Given the description of an element on the screen output the (x, y) to click on. 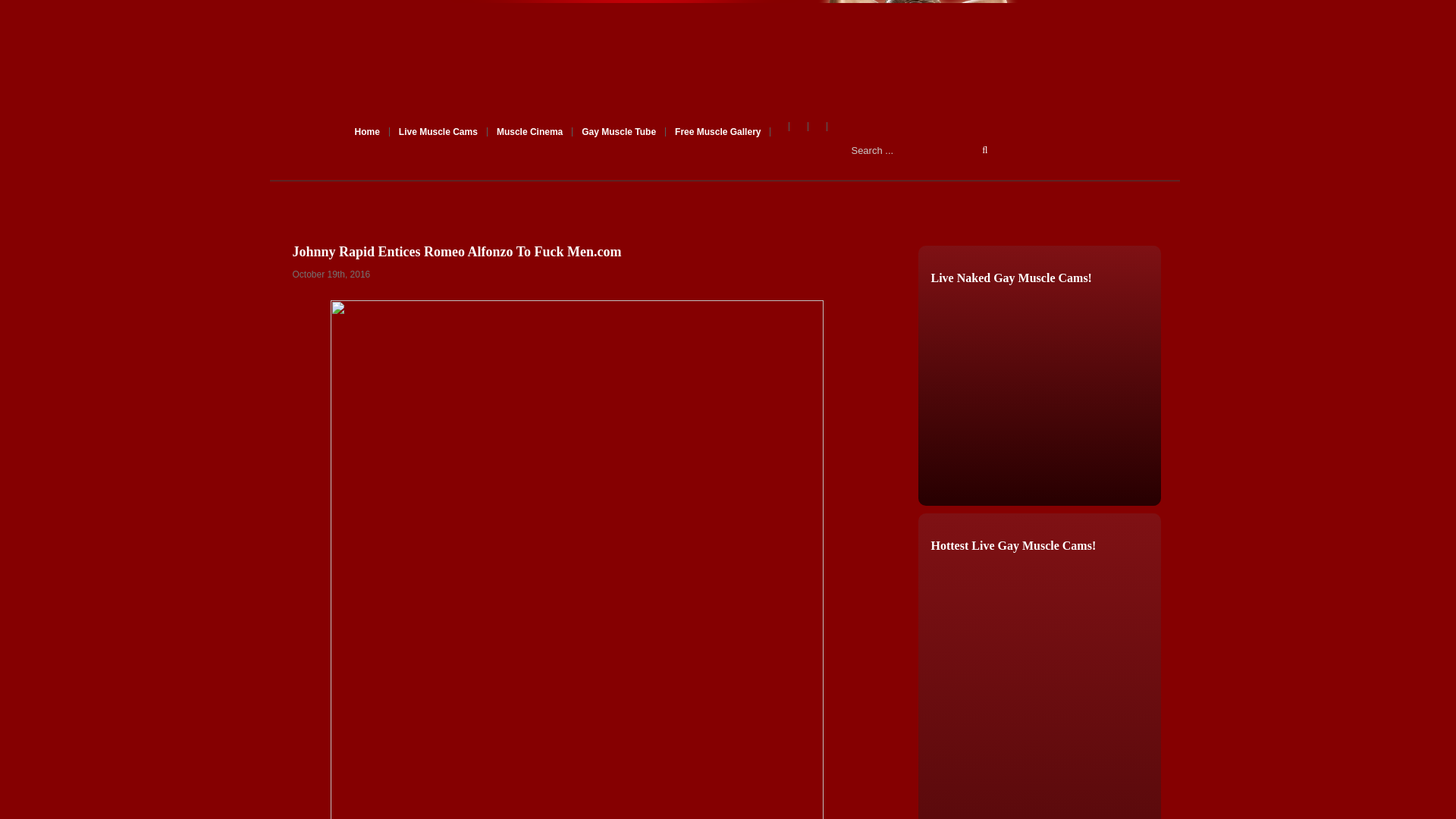
Live Muscle Cams (438, 131)
Home (368, 131)
Muscle Cinema (529, 131)
Gay Muscle Tube (618, 131)
Free Muscle Gallery (717, 131)
